Given the description of an element on the screen output the (x, y) to click on. 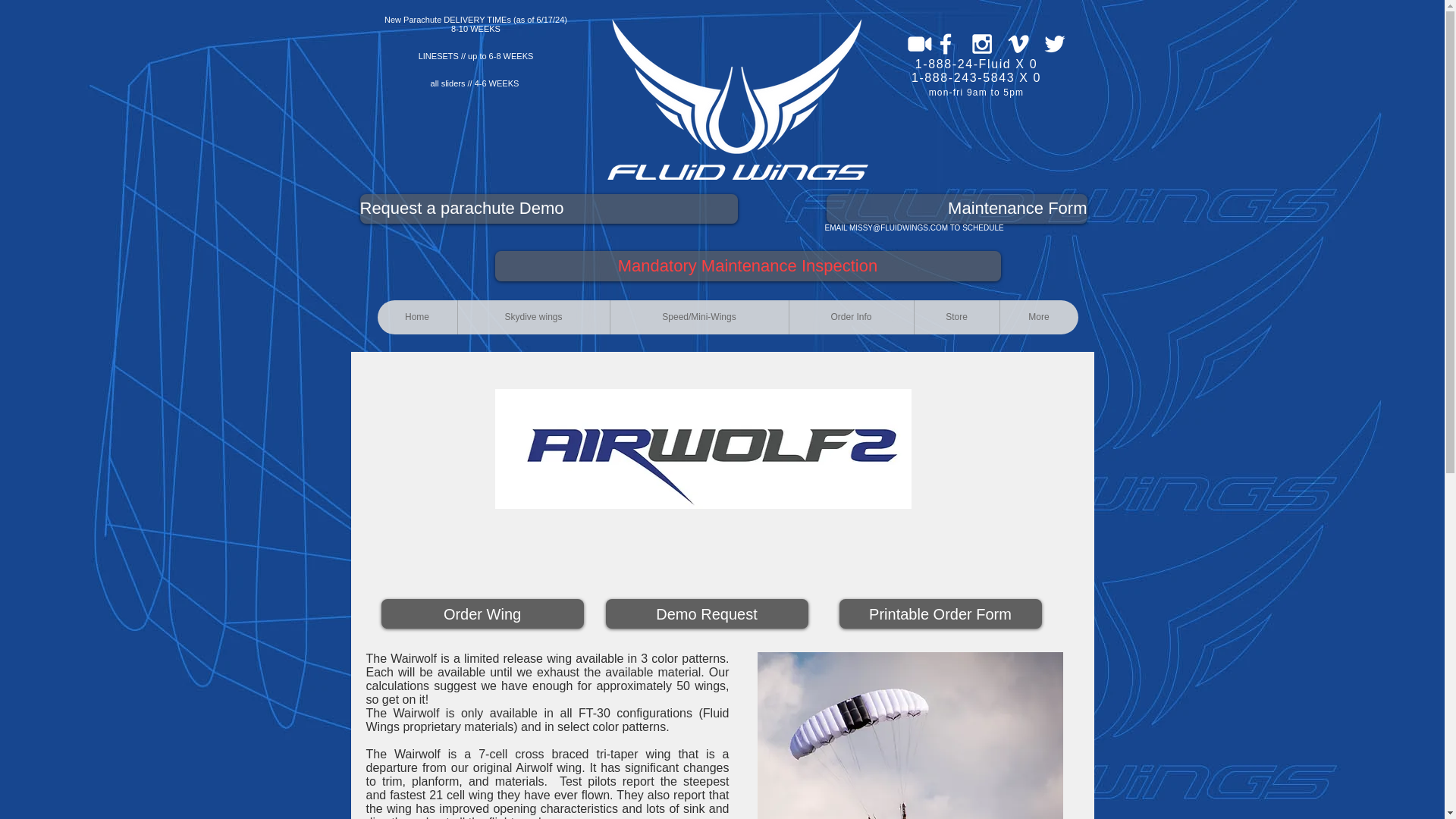
Order Wing (481, 613)
Printable Order Form (939, 613)
Demo Request (706, 613)
Order Info (851, 317)
Skydive wings (532, 317)
Maintenance Form (957, 208)
Request a parachute Demo (547, 208)
Home (417, 317)
Mandatory Maintenance Inspection (747, 265)
Store (955, 317)
